Given the description of an element on the screen output the (x, y) to click on. 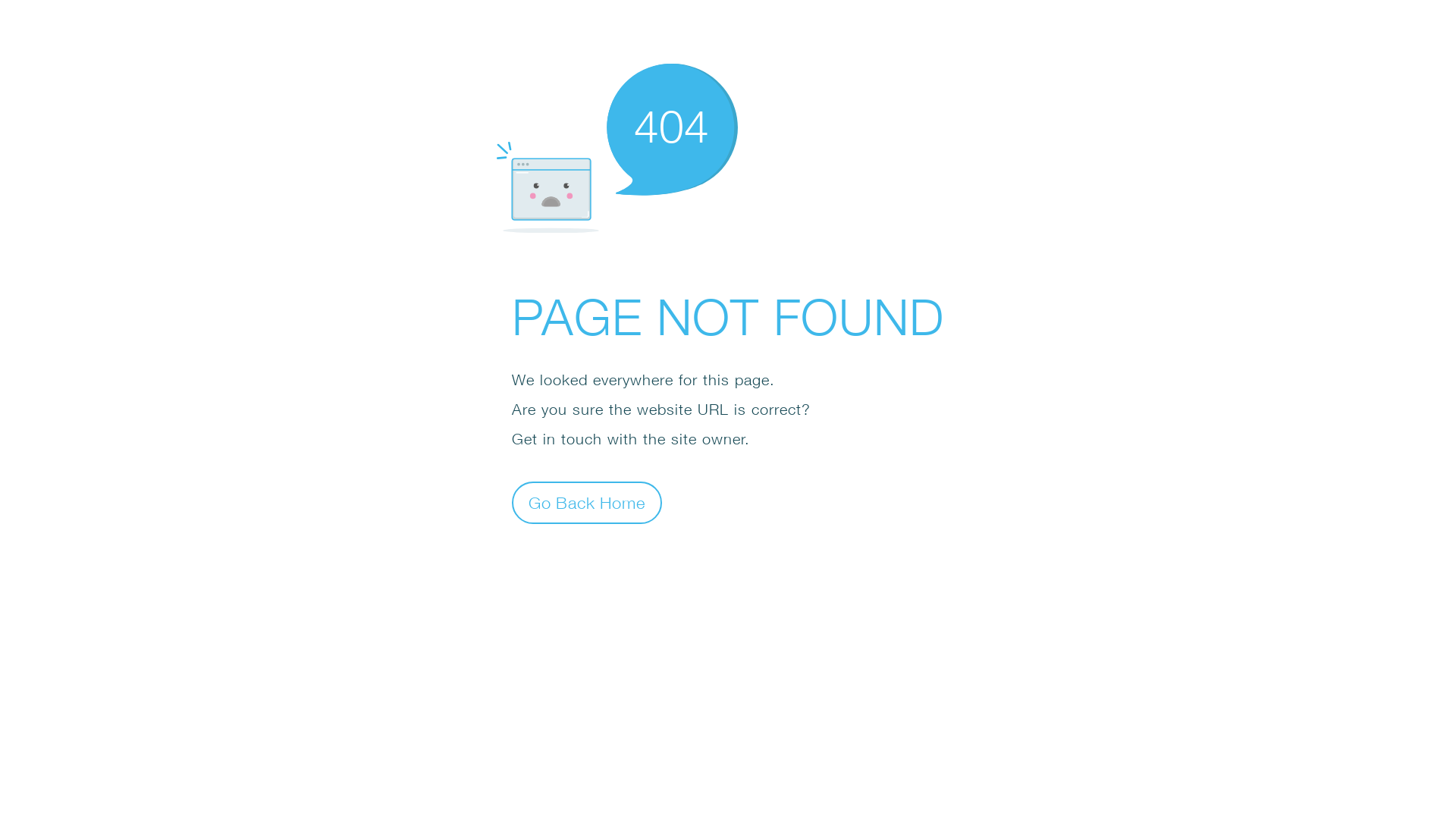
Go Back Home Element type: text (586, 502)
